Given the description of an element on the screen output the (x, y) to click on. 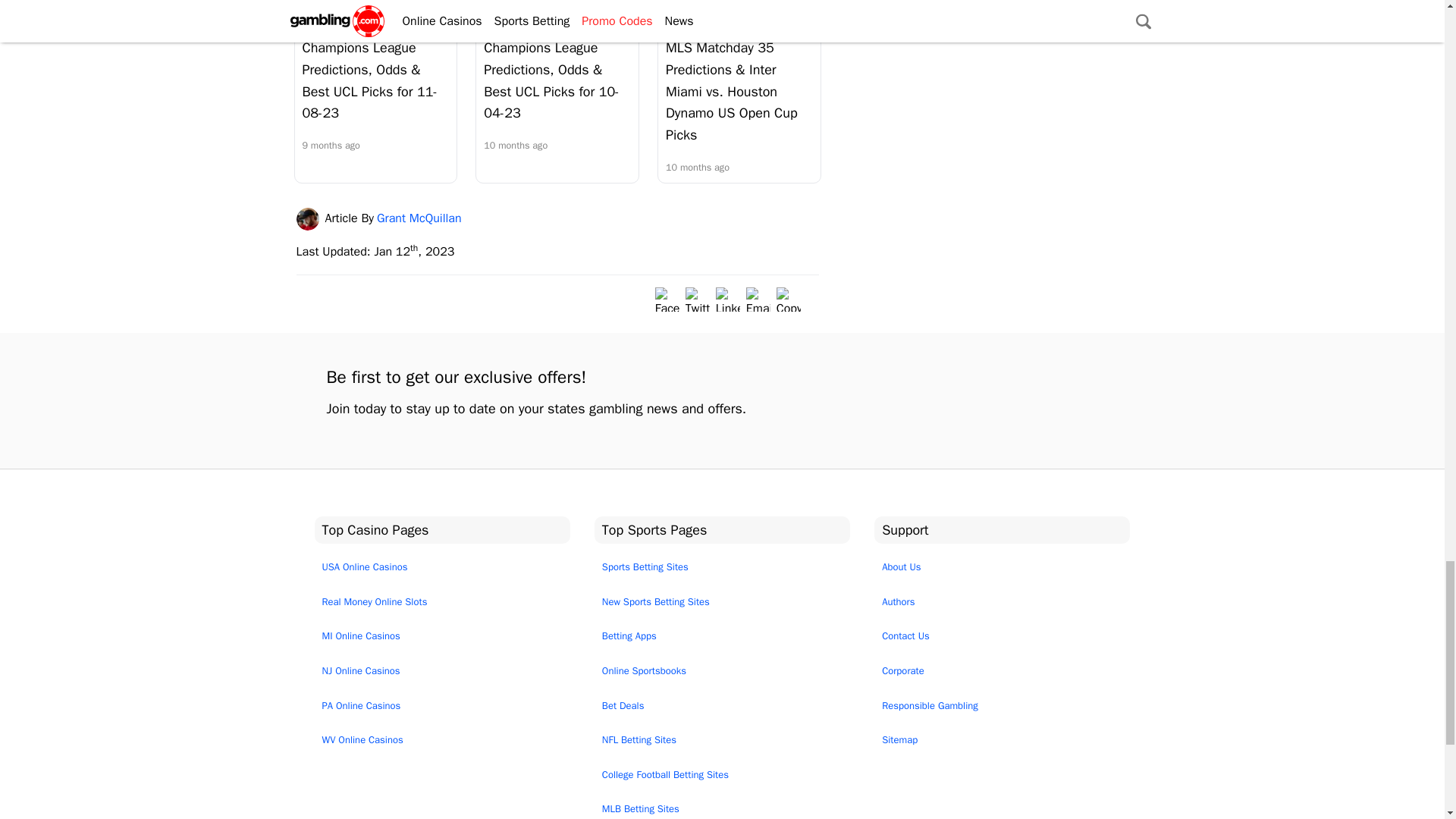
Dusan Jovanovic (351, 11)
Dusan Jovanovic (533, 11)
Grant McQuillan (715, 11)
Grant McQuillan (309, 219)
